Given the description of an element on the screen output the (x, y) to click on. 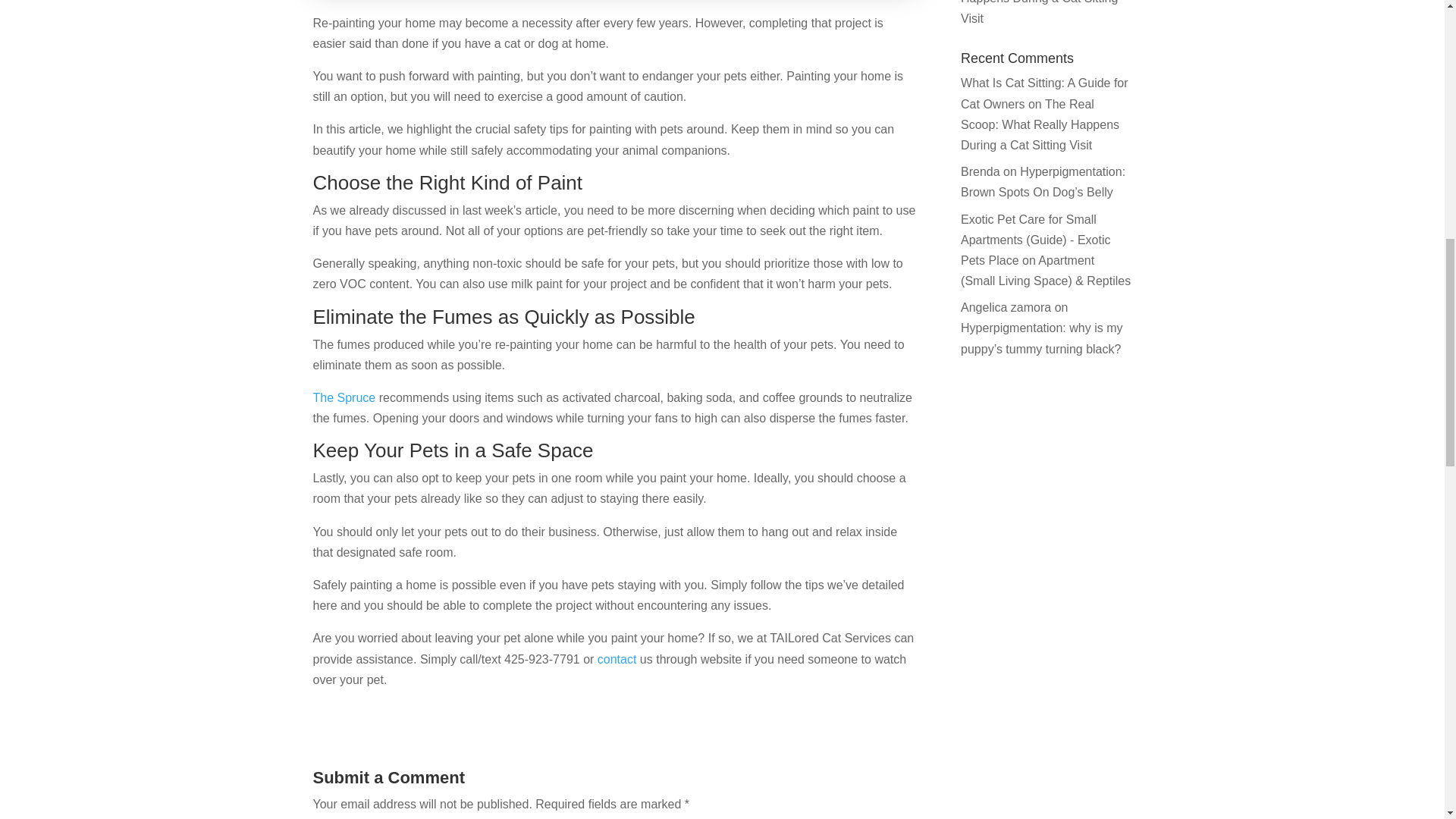
contact (616, 658)
The Spruce (344, 397)
What Is Cat Sitting: A Guide for Cat Owners (1044, 92)
